Given the description of an element on the screen output the (x, y) to click on. 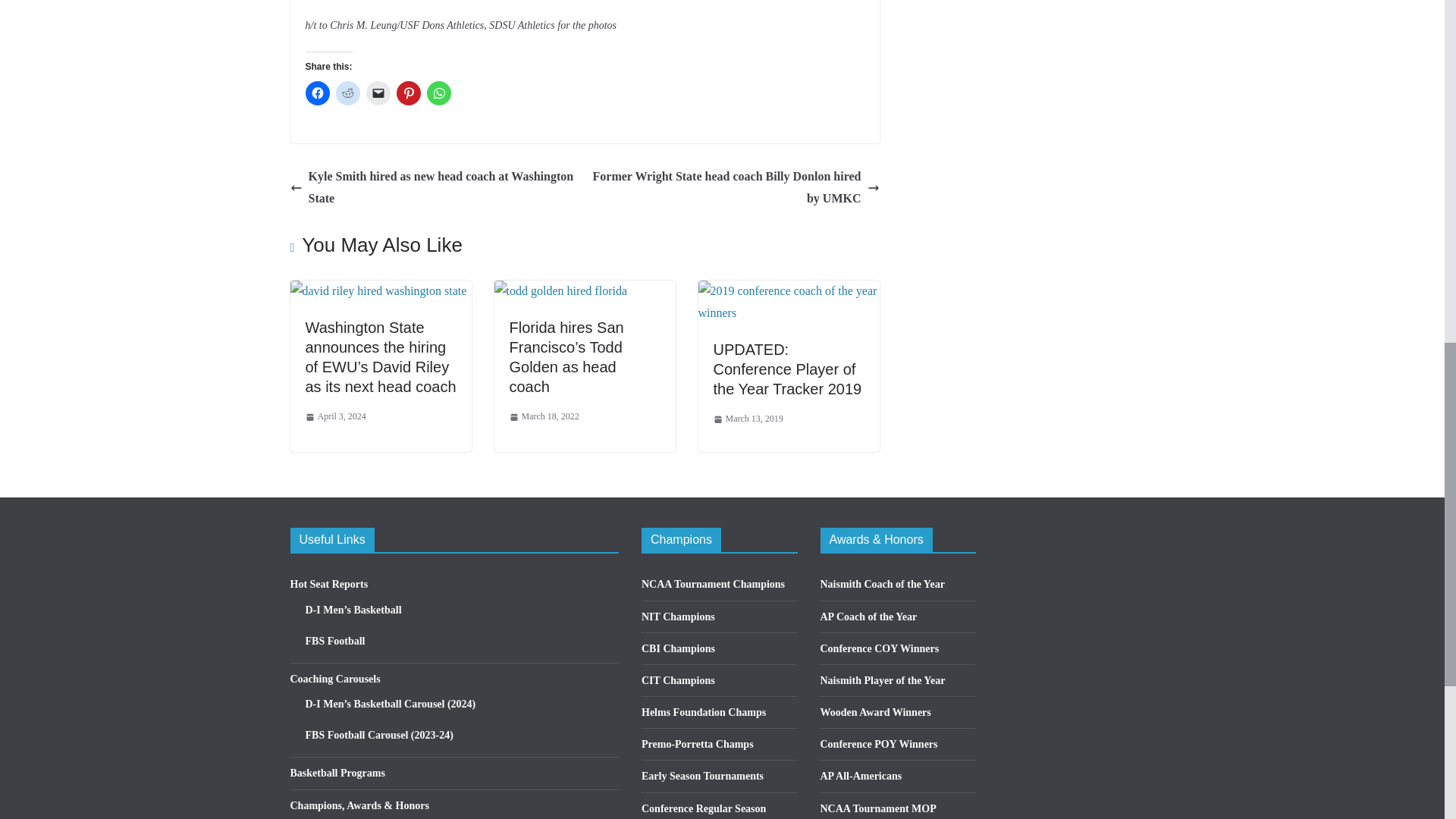
Click to email a link to a friend (377, 93)
Click to share on Facebook (316, 93)
Click to share on Reddit (346, 93)
9:13 am (334, 416)
Click to share on Pinterest (408, 93)
Click to share on WhatsApp (437, 93)
